Given the description of an element on the screen output the (x, y) to click on. 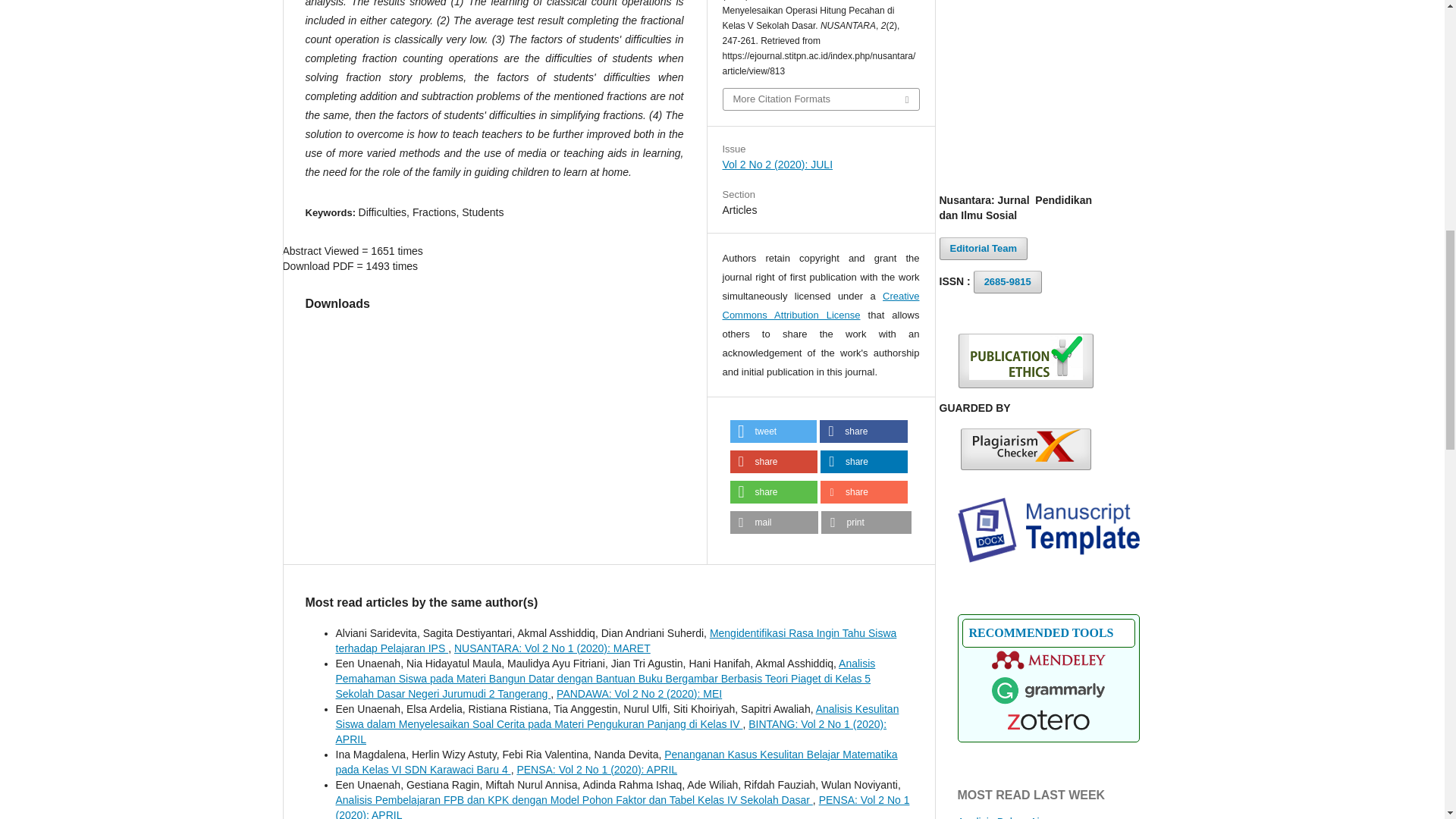
Share on AddThis (864, 491)
print (866, 522)
Dewan Penyunting (983, 248)
Share on Whatsapp (772, 491)
Send by email (773, 522)
More Citation Formats (820, 98)
Share on LinkedIn (864, 461)
Share on Twitter (772, 431)
Share on Facebook (863, 431)
Template Jurnal Nusantara (1047, 558)
